Given the description of an element on the screen output the (x, y) to click on. 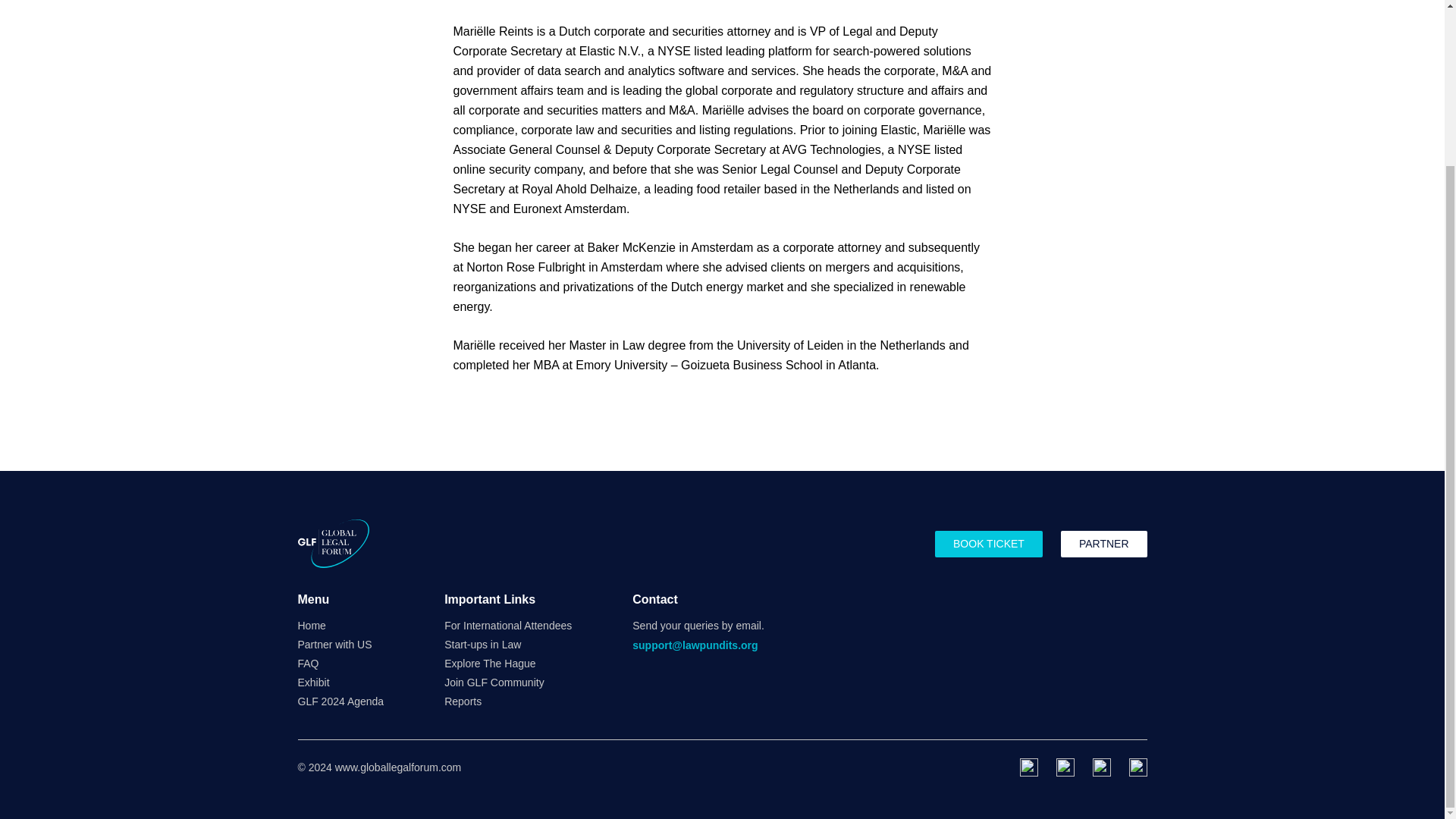
Home Page (332, 543)
